Given the description of an element on the screen output the (x, y) to click on. 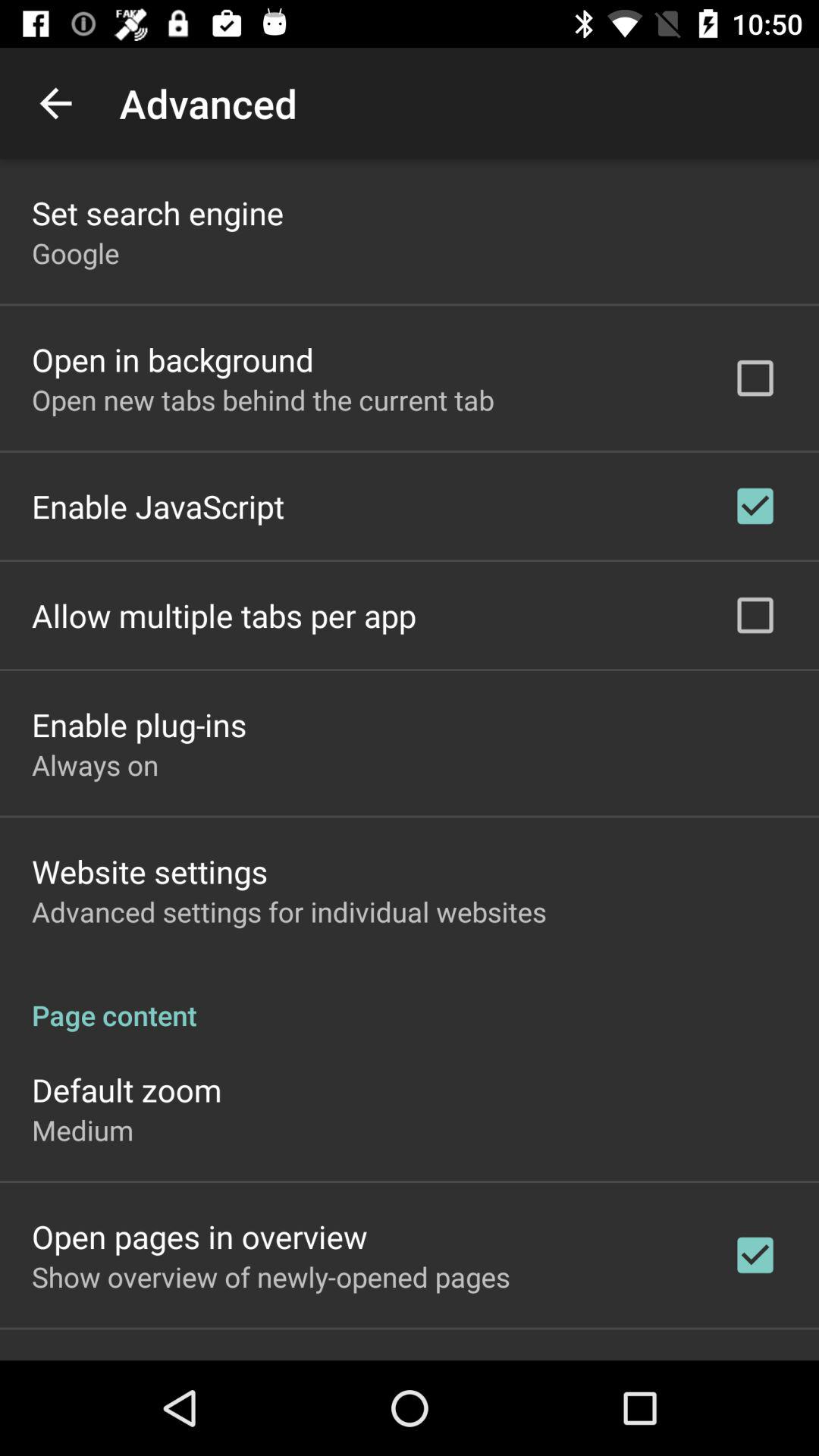
press the app above the allow multiple tabs item (157, 505)
